Given the description of an element on the screen output the (x, y) to click on. 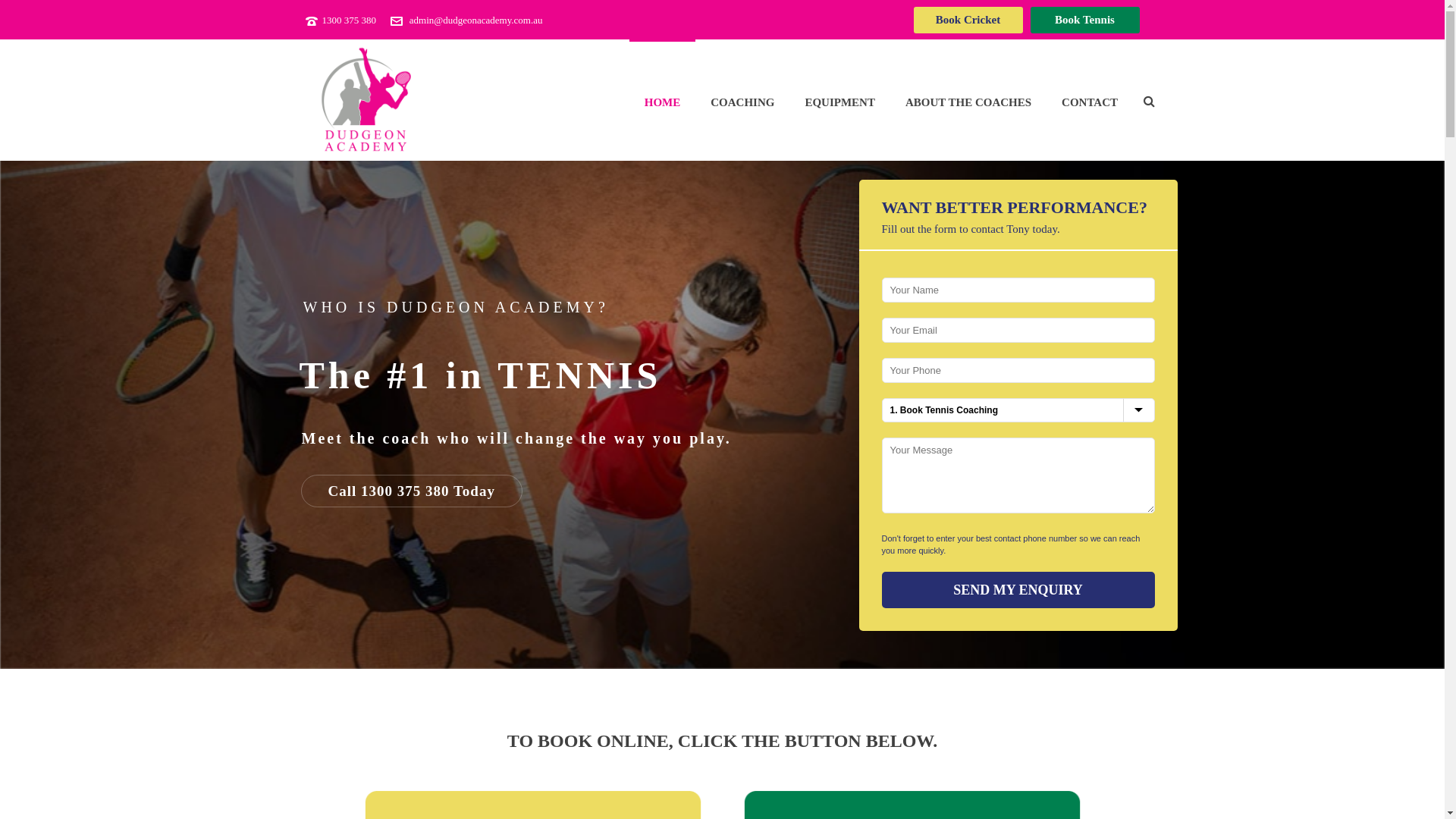
1300 375 380 Element type: text (348, 19)
CONTACT Element type: text (1089, 99)
Book Tennis Element type: text (1084, 19)
Book Cricket Element type: text (967, 19)
EQUIPMENT Element type: text (839, 99)
ABOUT THE COACHES Element type: text (968, 99)
HOME Element type: text (662, 99)
Send My Enquiry Element type: text (1017, 589)
COACHING Element type: text (742, 99)
admin@dudgeonacademy.com.au Element type: text (475, 19)
Tennis & Cricket Coaching Ashgrove & Bardon Element type: hover (365, 99)
